Given the description of an element on the screen output the (x, y) to click on. 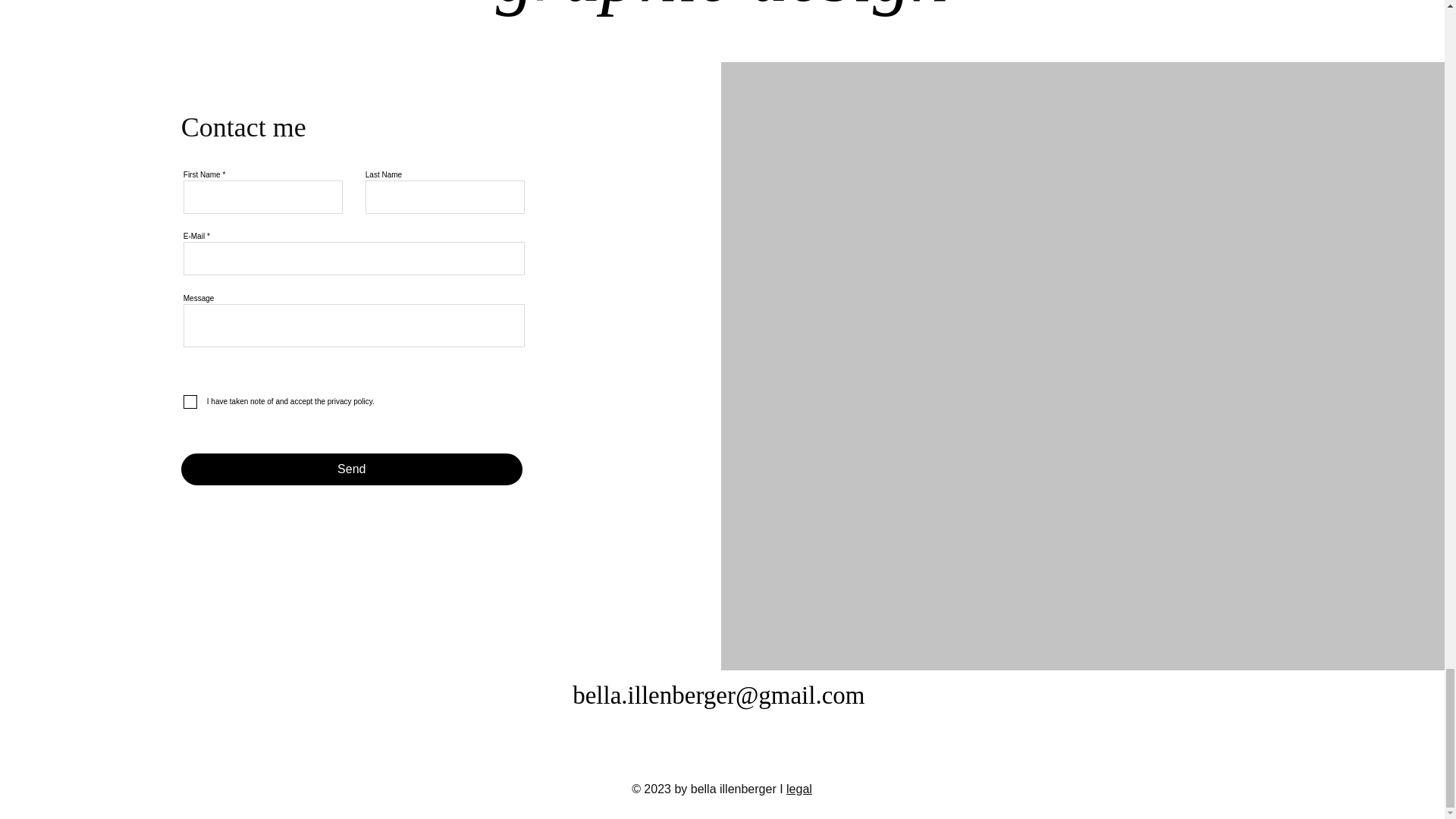
legal (799, 788)
Send (351, 469)
